Given the description of an element on the screen output the (x, y) to click on. 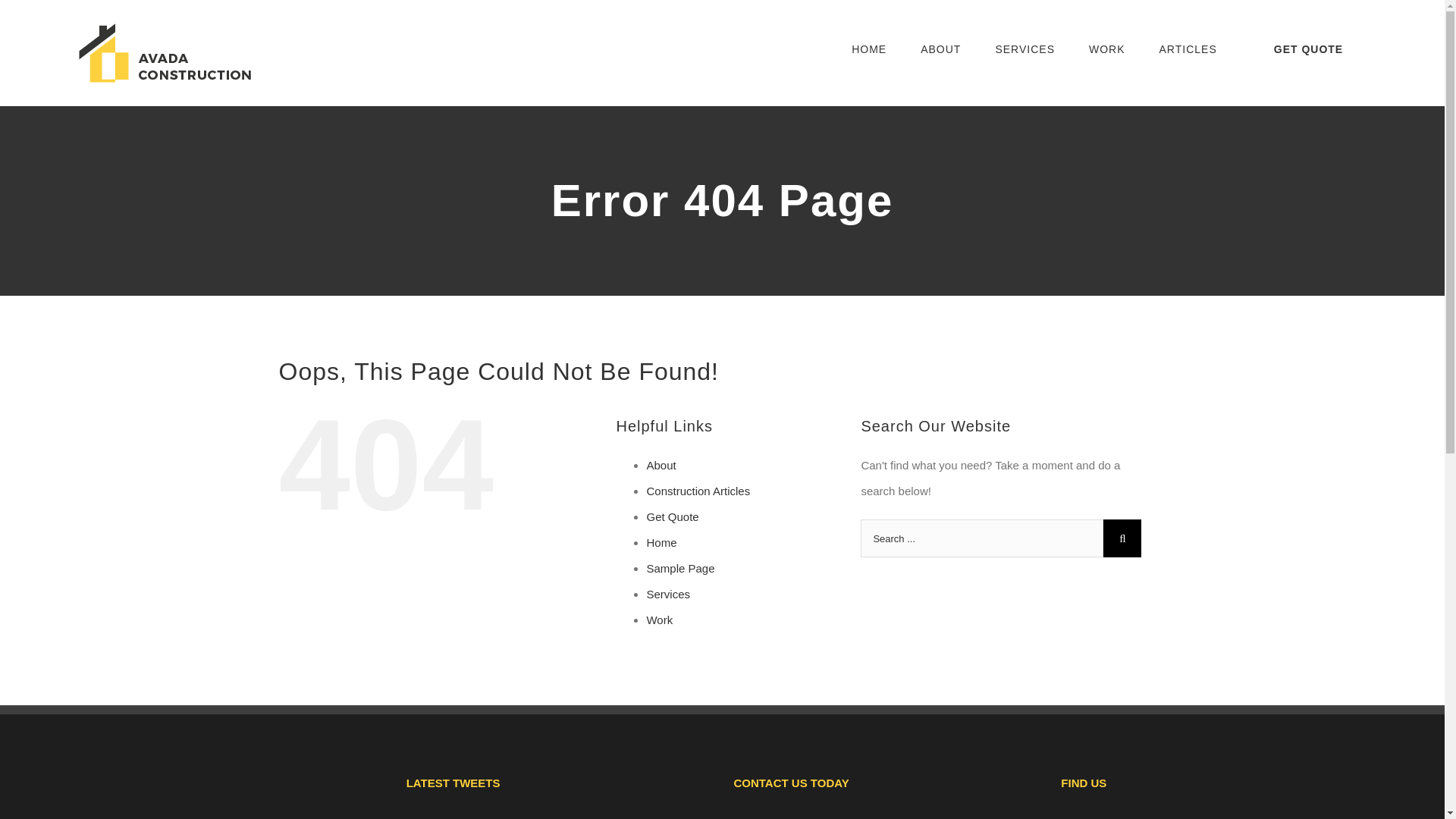
Work (659, 619)
GET QUOTE (1307, 49)
About (660, 464)
Construction Articles (697, 490)
Get Quote (672, 516)
Sample Page (680, 567)
Services (668, 594)
Home (661, 542)
